Given the description of an element on the screen output the (x, y) to click on. 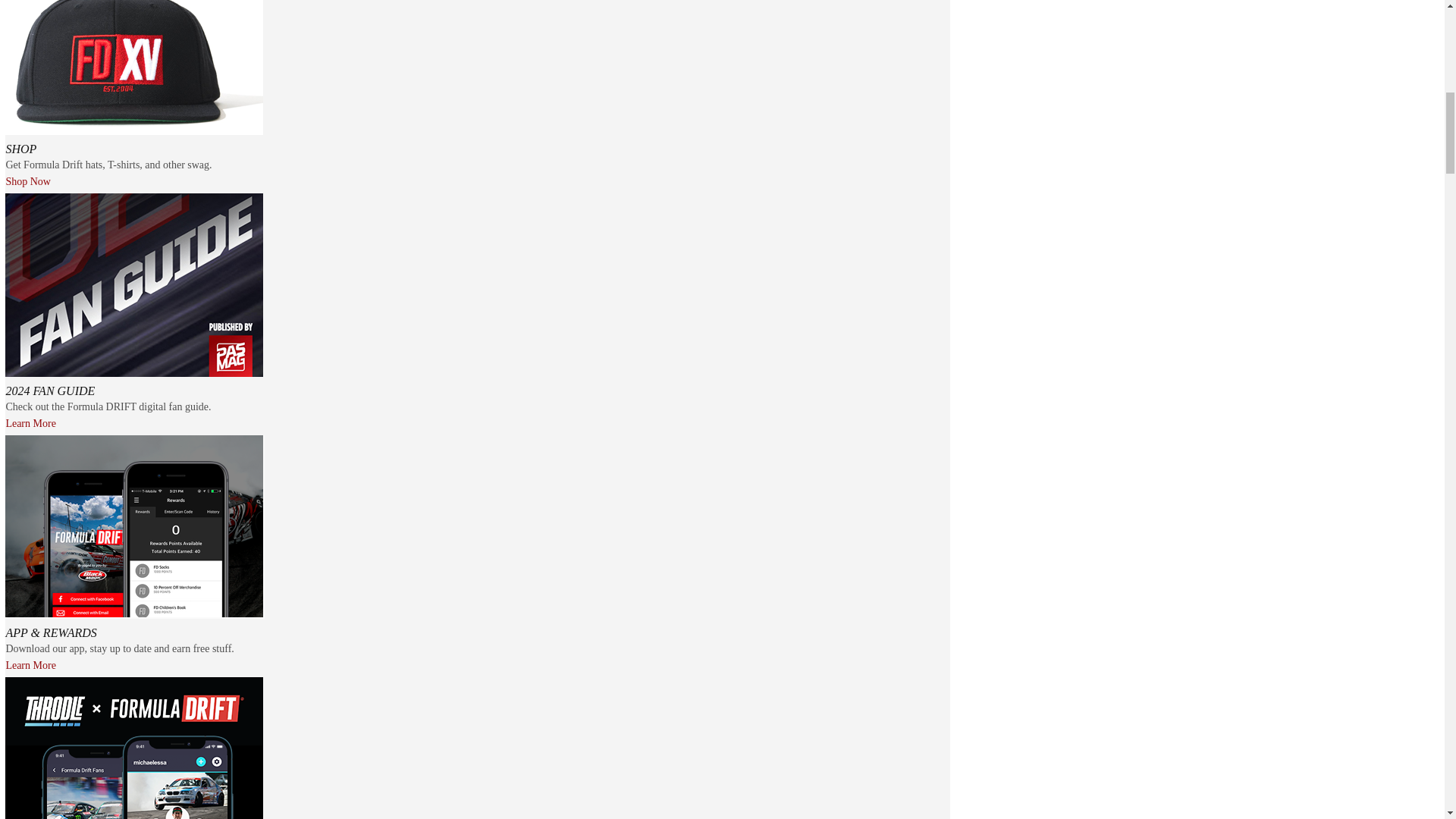
Learn More (30, 665)
Learn More (30, 423)
Shop Now (27, 181)
